Given the description of an element on the screen output the (x, y) to click on. 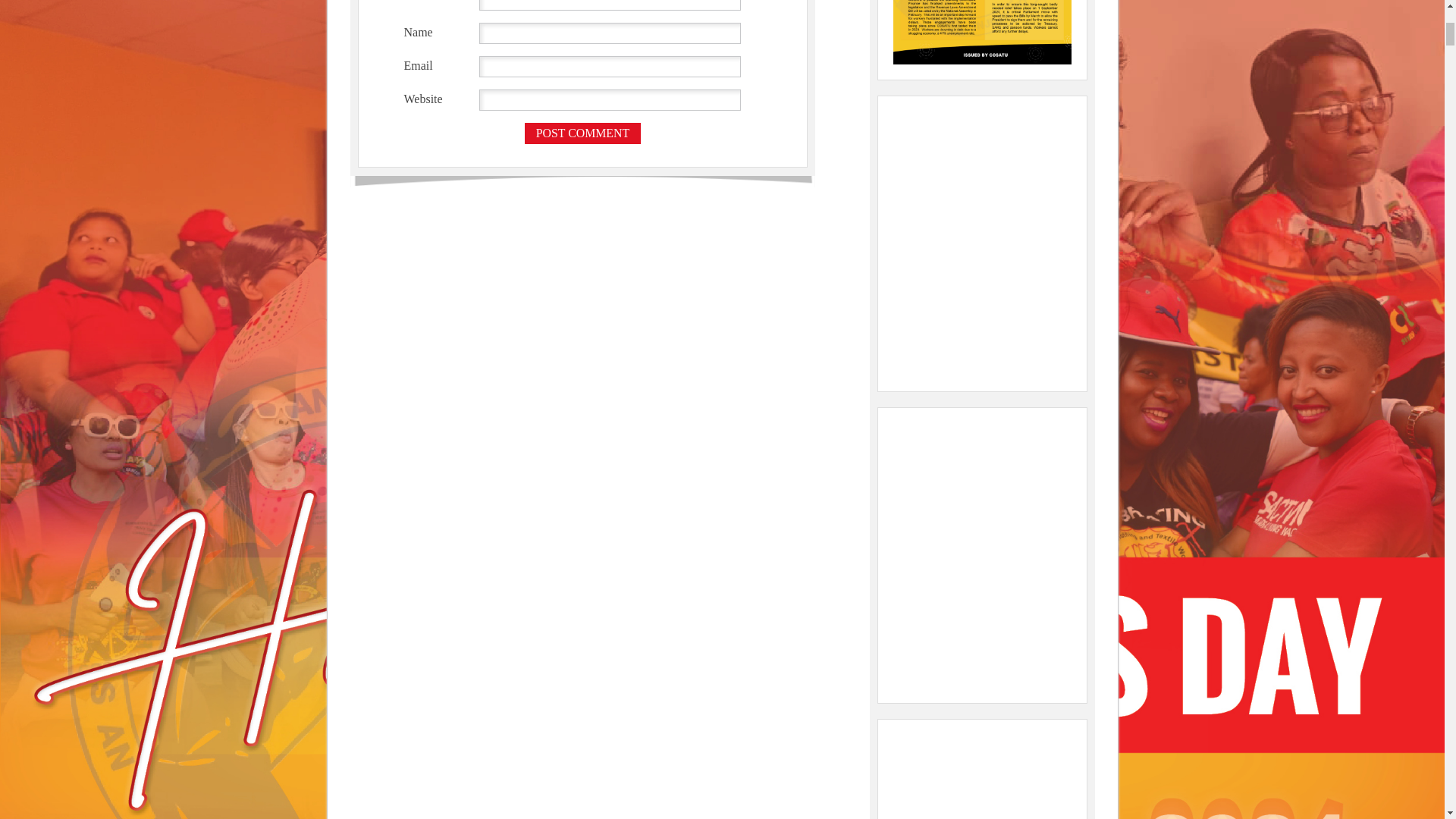
Post Comment (582, 133)
Denosa calls for increased security for health workers (981, 776)
Post Comment (582, 133)
